Given the description of an element on the screen output the (x, y) to click on. 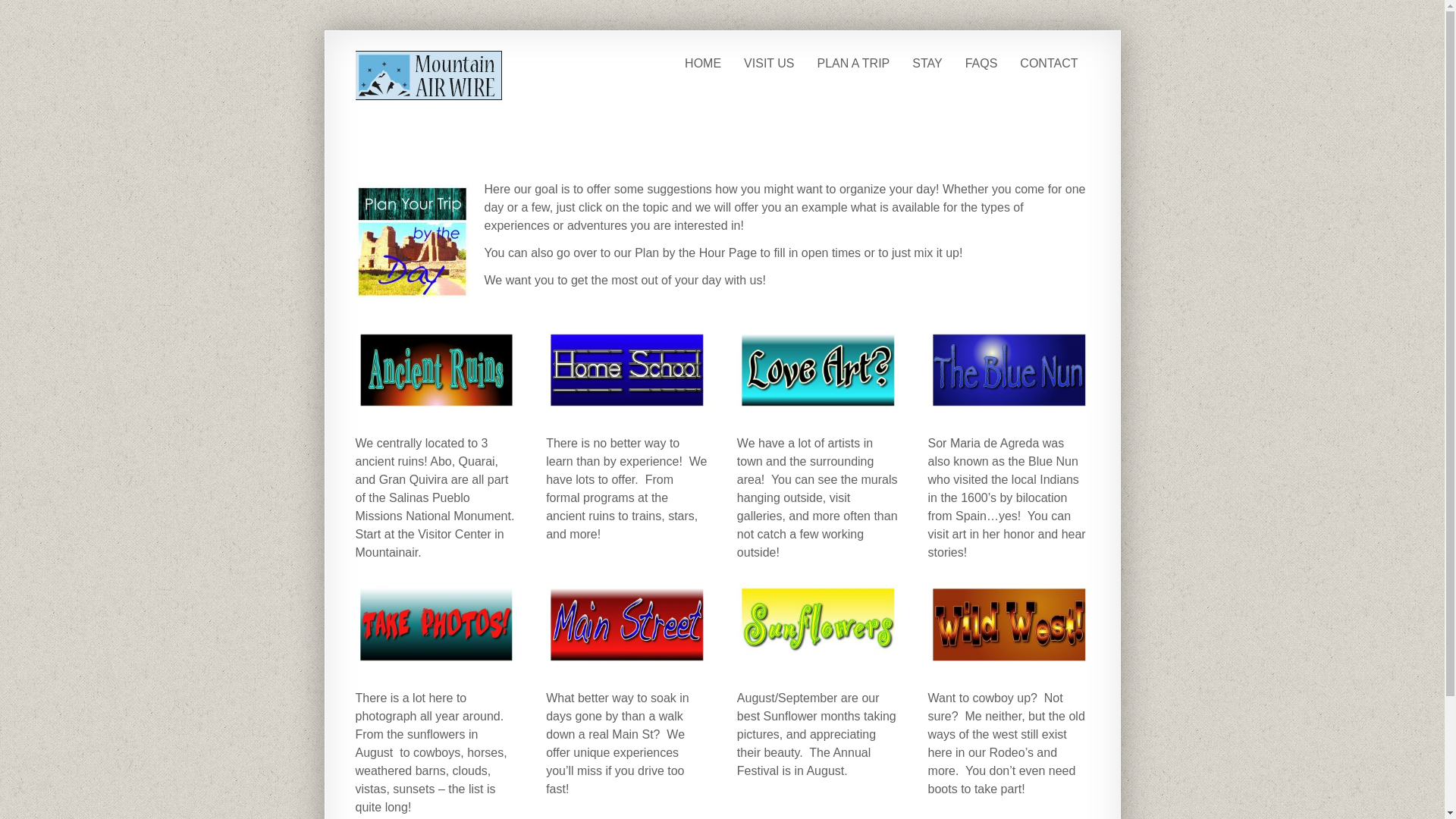
VISIT US (768, 63)
CONTACT (1049, 63)
HOME (702, 63)
PLAN A TRIP (853, 63)
